Given the description of an element on the screen output the (x, y) to click on. 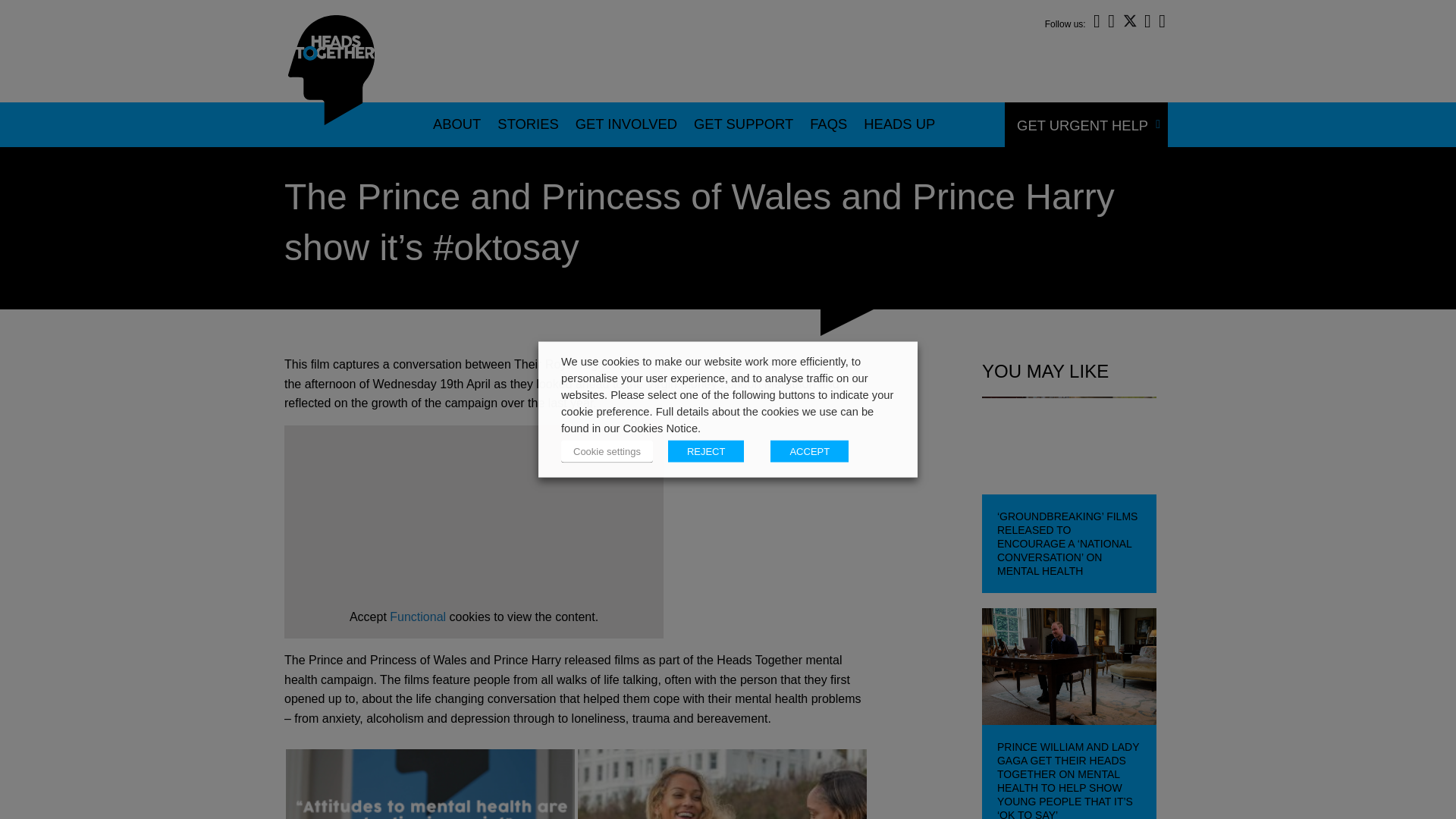
HEADS UP (899, 124)
GET INVOLVED (626, 124)
Functional (417, 616)
FAQS (829, 124)
ABOUT (457, 124)
STORIES (527, 124)
GET URGENT HELP (1080, 125)
GET SUPPORT (743, 124)
